Given the description of an element on the screen output the (x, y) to click on. 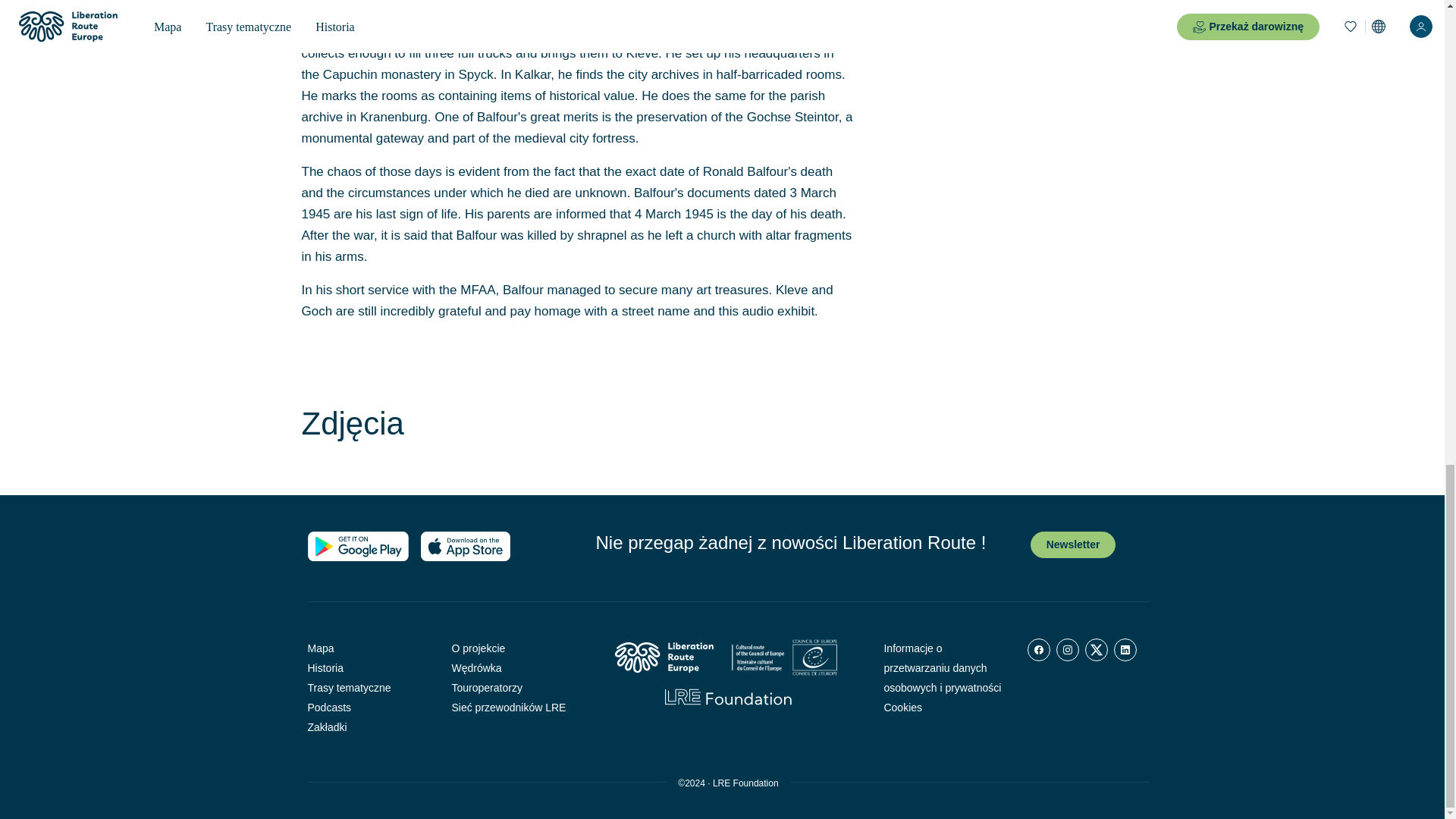
LRE Foundation (745, 783)
Historia (368, 668)
O projekcie (512, 648)
Trasy tematyczne (368, 687)
Mapa (368, 648)
Touroperatorzy (512, 687)
Cookies (943, 707)
Podcasts (368, 707)
Newsletter (1073, 544)
